Given the description of an element on the screen output the (x, y) to click on. 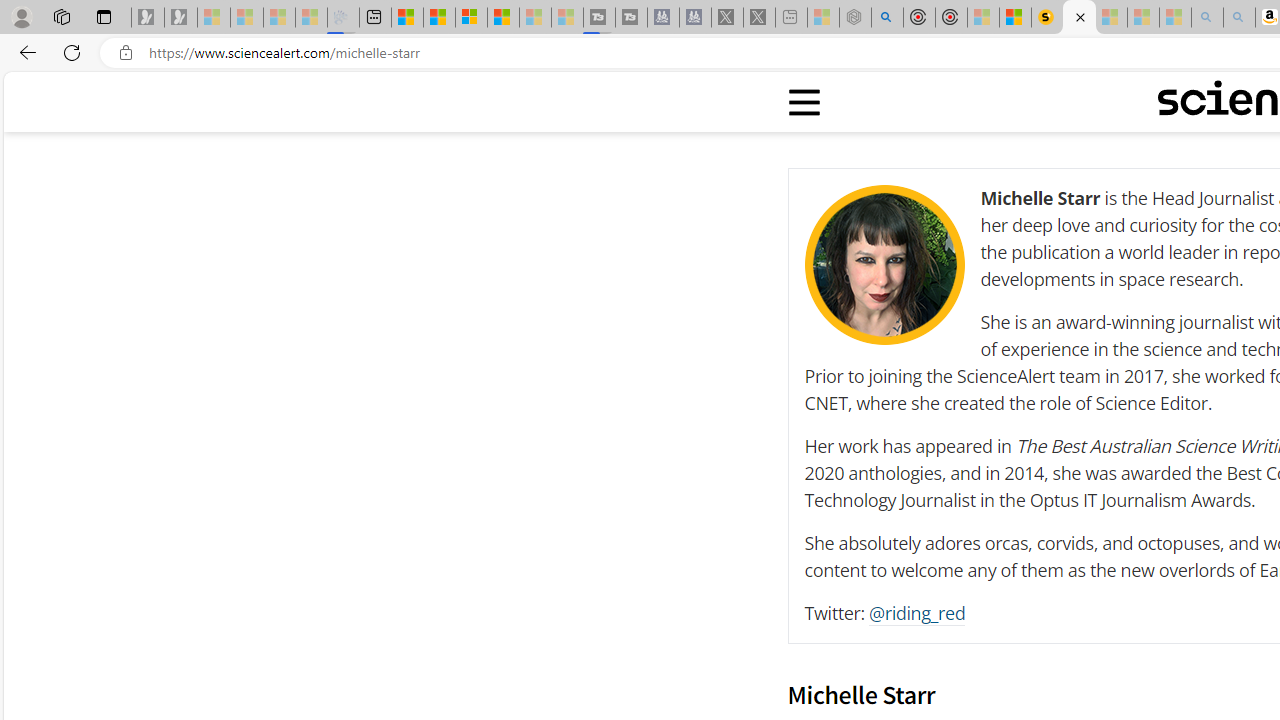
Amazon Echo Dot PNG - Search Images - Sleeping (1239, 17)
